Given the description of an element on the screen output the (x, y) to click on. 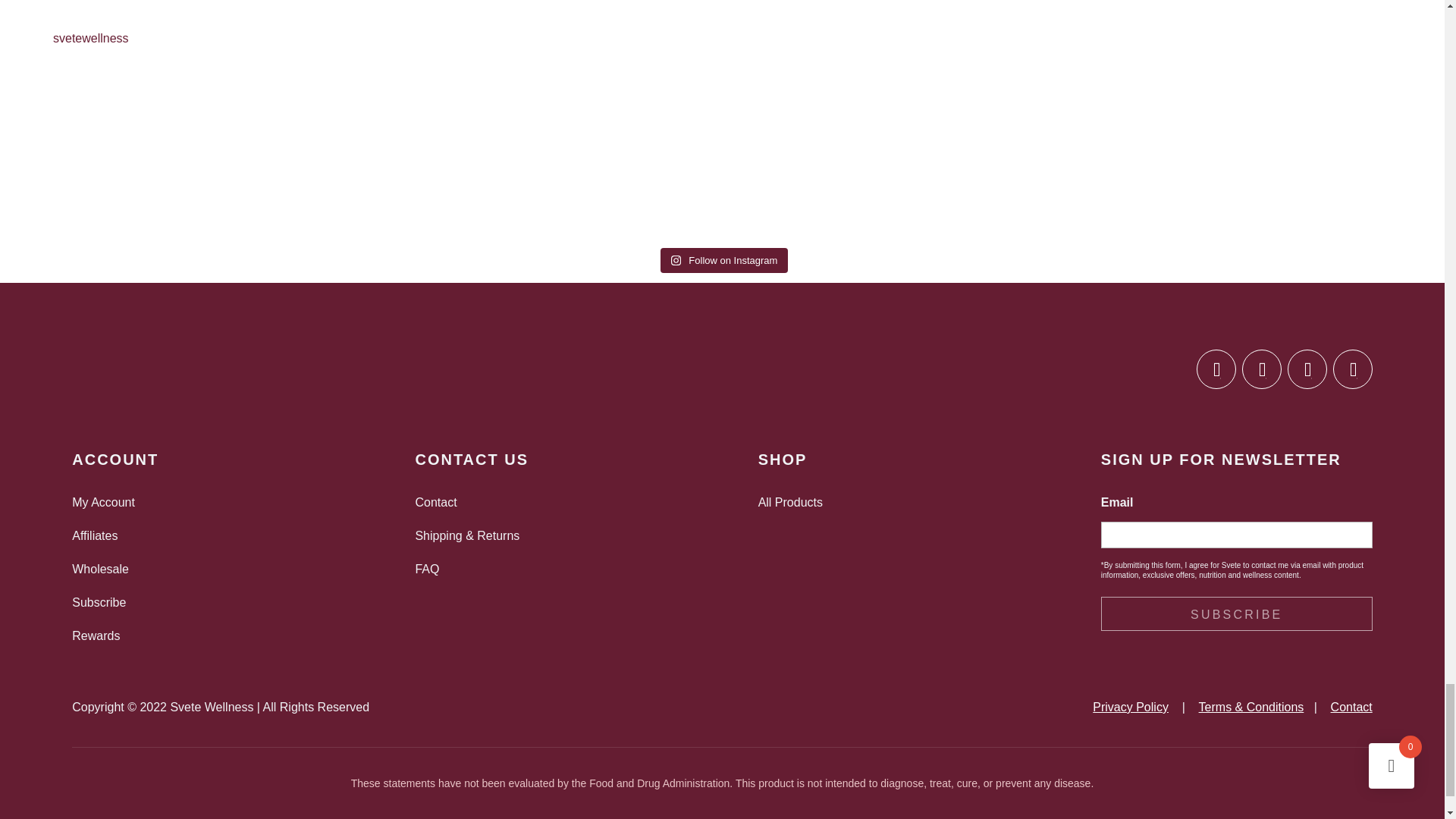
Follow on TikTok (1353, 369)
Follow on Facebook (1216, 369)
SUBSCRIBE (1236, 613)
svete-wellness-logo (147, 372)
Follow on Instagram (1261, 369)
Follow on Twitter (1306, 369)
